Given the description of an element on the screen output the (x, y) to click on. 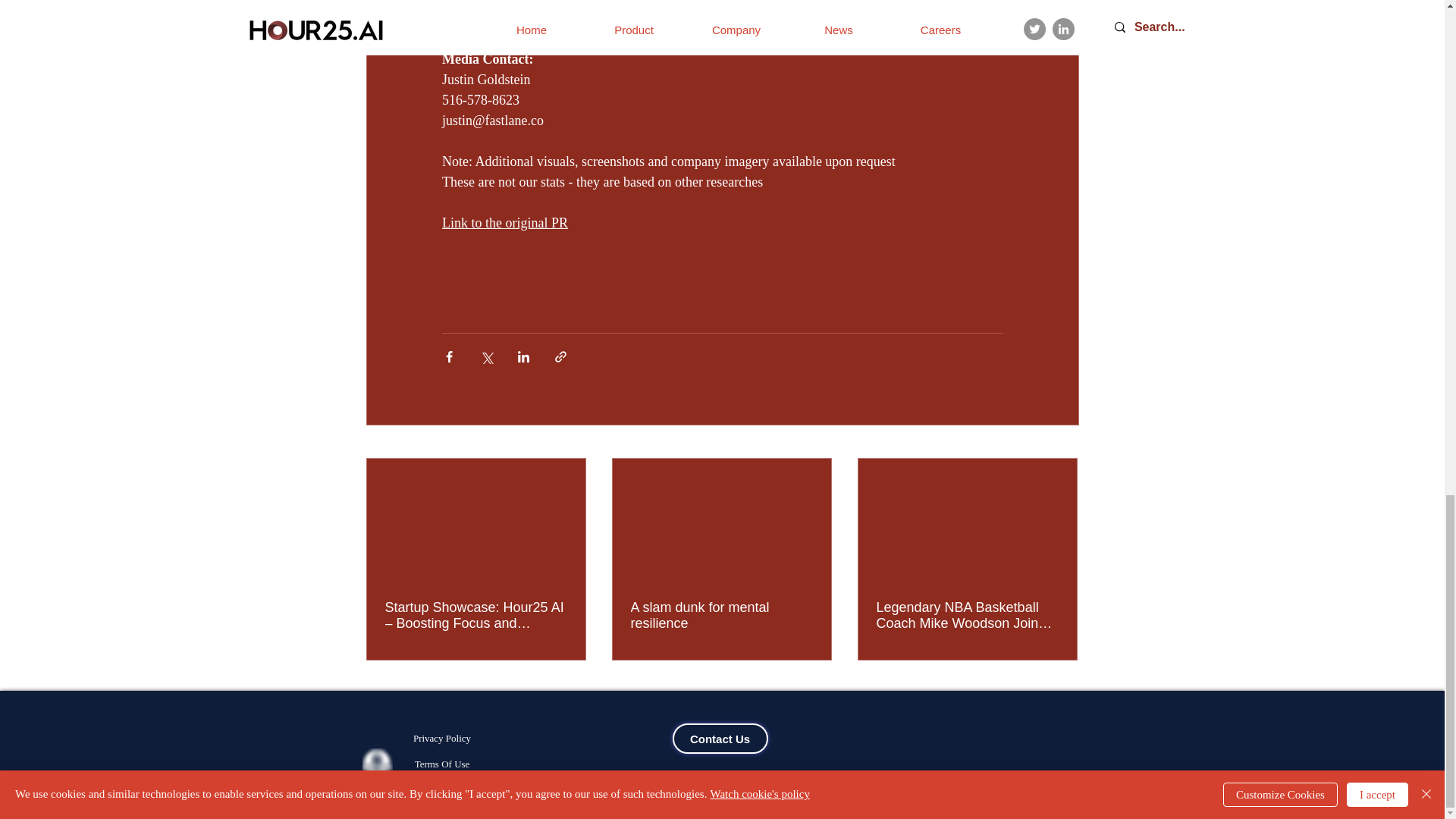
Credit: Freepik (441, 789)
Link to the original PR (504, 222)
Privacy Policy (441, 737)
A slam dunk for mental resilience (721, 615)
Contact Us (719, 738)
www.hour25.ai (708, 2)
Terms Of Use (441, 764)
